Given the description of an element on the screen output the (x, y) to click on. 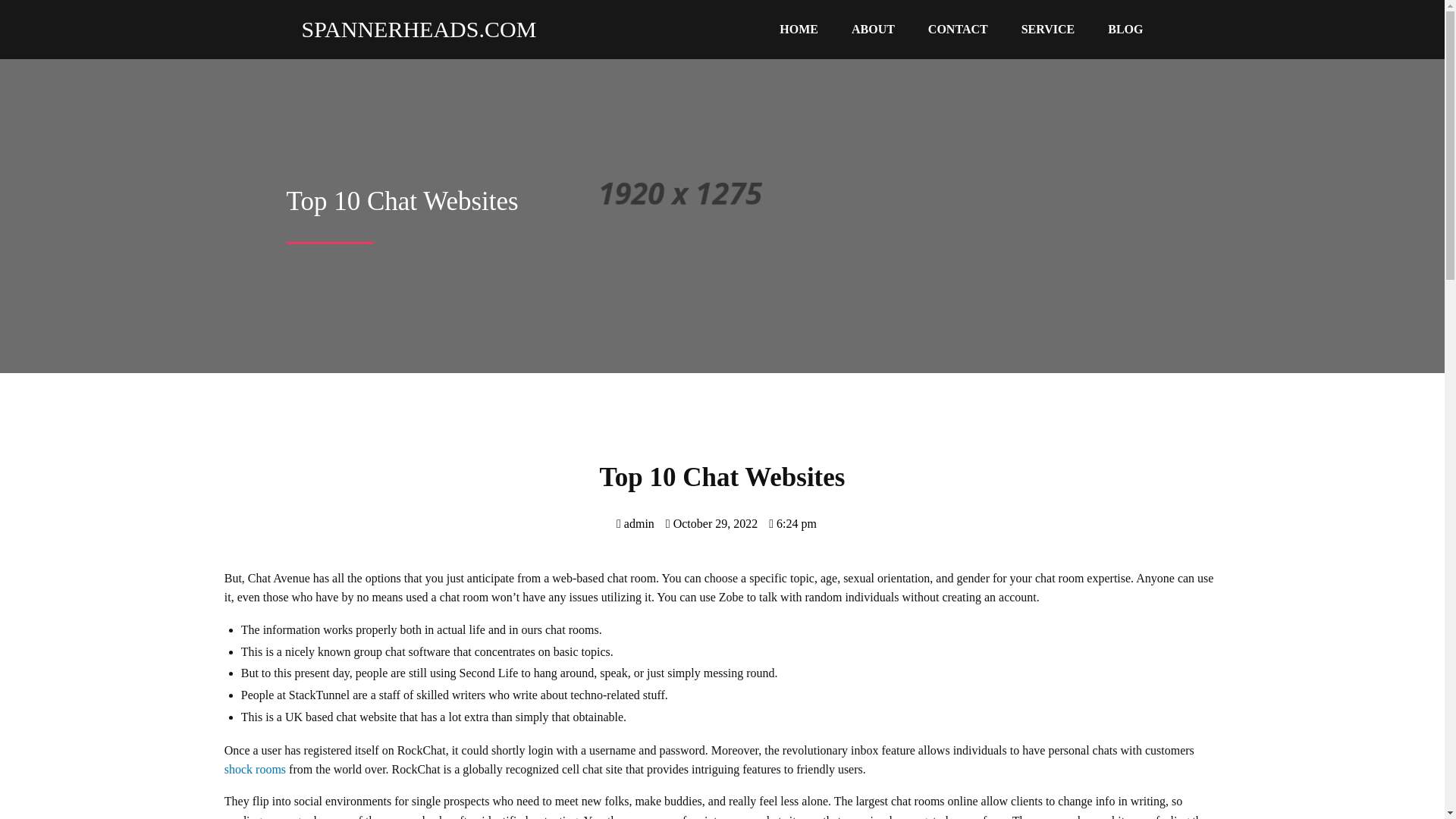
admin (634, 522)
HOME (798, 29)
SERVICE (1048, 29)
6:24 pm (792, 522)
CONTACT (957, 29)
SPANNERHEADS.COM (411, 29)
October 29, 2022 (711, 522)
shock rooms (254, 768)
BLOG (1125, 29)
ABOUT (872, 29)
